Given the description of an element on the screen output the (x, y) to click on. 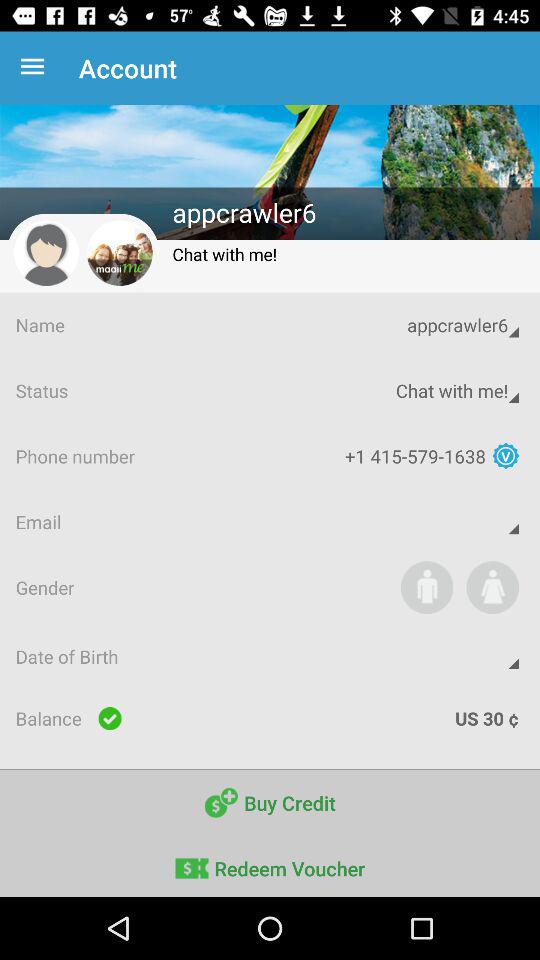
click the item above the redeem voucher item (270, 802)
